Given the description of an element on the screen output the (x, y) to click on. 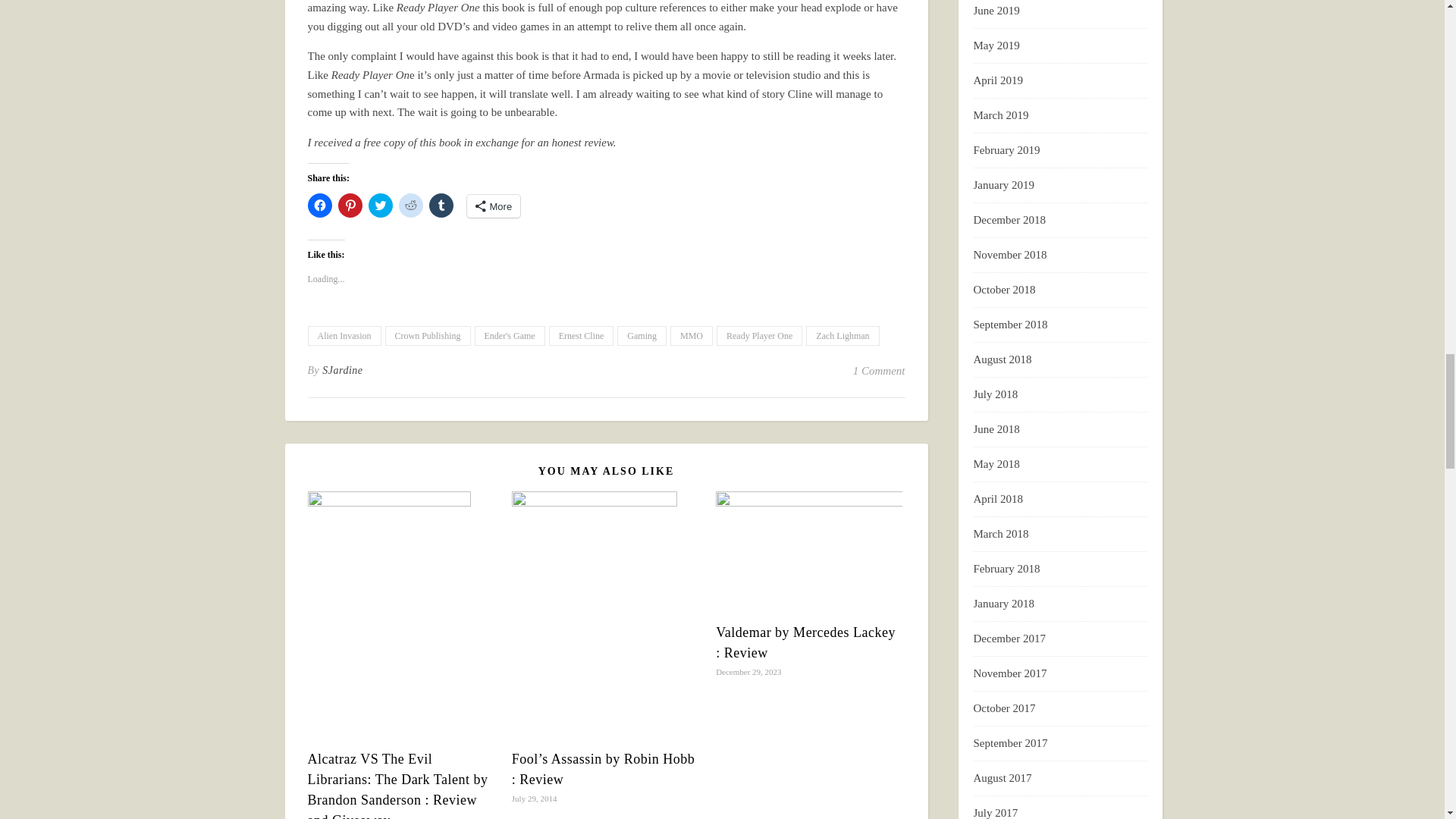
Ender's Game (509, 335)
Zach Lighman (842, 335)
Click to share on Pinterest (349, 205)
Crown Publishing (427, 335)
Alien Invasion (344, 335)
Click to share on Facebook (319, 205)
Ready Player One (759, 335)
Gaming (641, 335)
Click to share on Tumblr (440, 205)
Click to share on Reddit (410, 205)
